Given the description of an element on the screen output the (x, y) to click on. 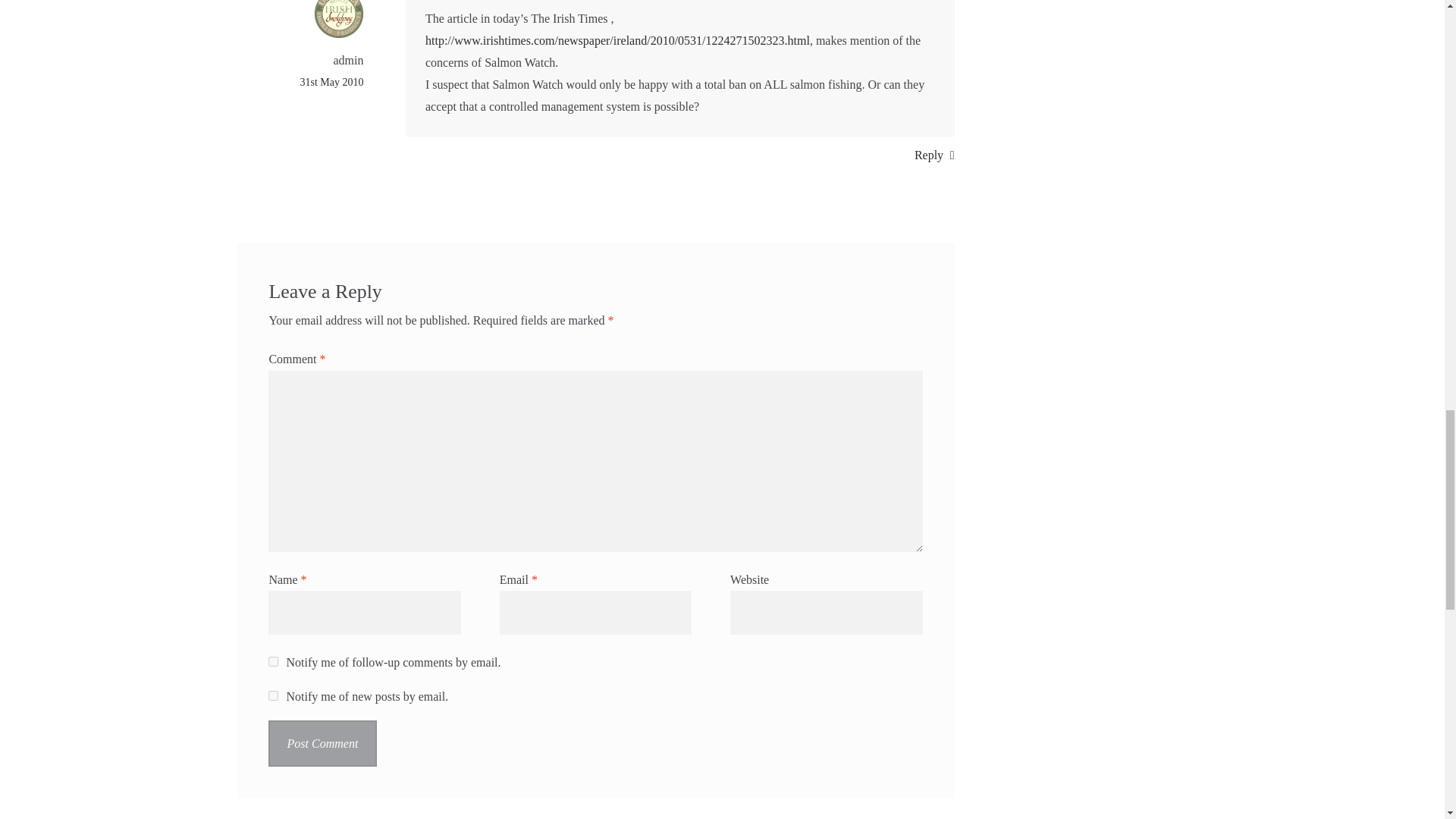
Post Comment (321, 743)
subscribe (272, 696)
subscribe (272, 661)
